Given the description of an element on the screen output the (x, y) to click on. 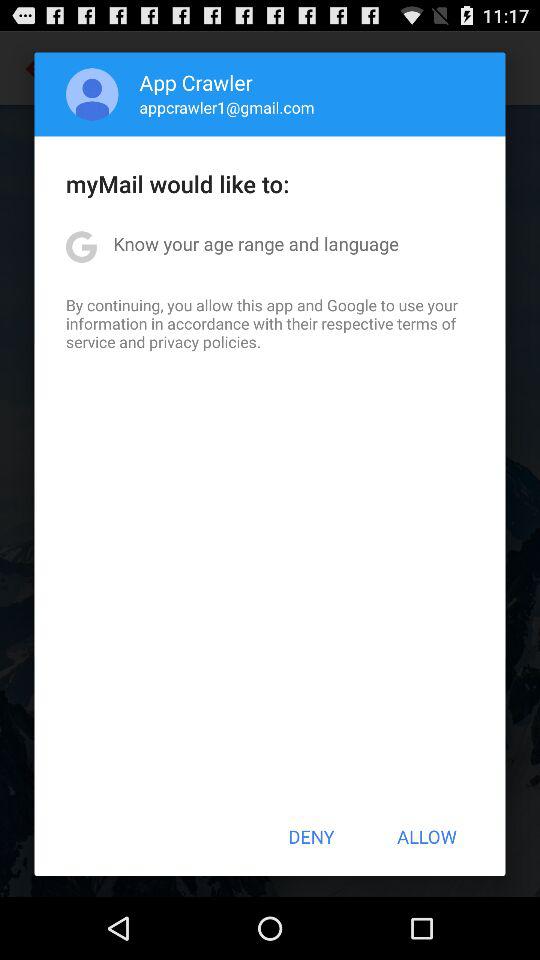
flip to know your age item (255, 243)
